Given the description of an element on the screen output the (x, y) to click on. 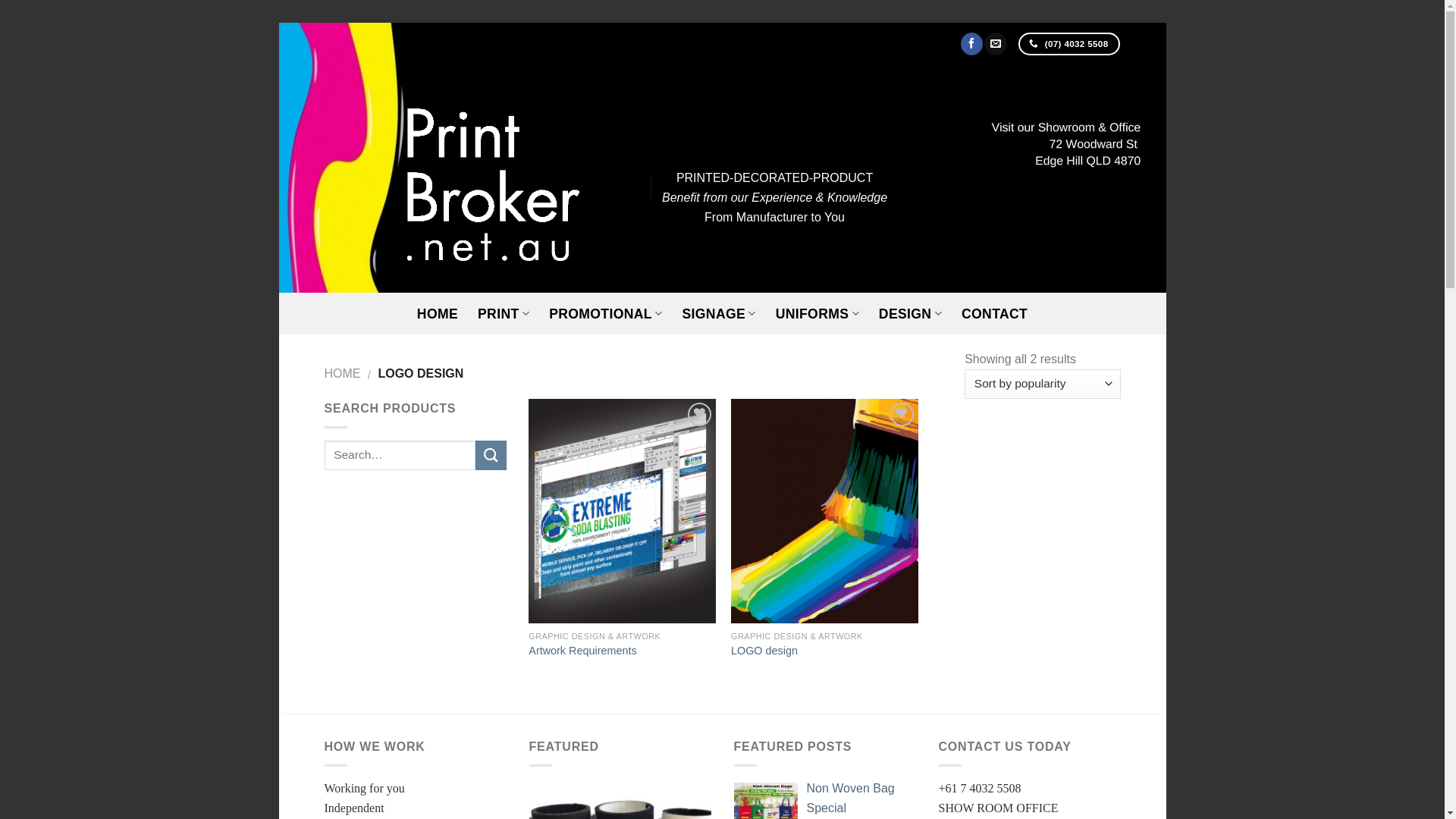
Send us an email Element type: hover (995, 43)
DESIGN Element type: text (909, 313)
UNIFORMS Element type: text (817, 313)
Artwork Requirements Element type: text (582, 650)
SIGNAGE Element type: text (719, 313)
CONTACT Element type: text (994, 313)
HOME Element type: text (342, 373)
PROMOTIONAL Element type: text (605, 313)
HOME Element type: text (437, 313)
LOGO design Element type: text (764, 650)
Non Woven Bag Special Element type: text (850, 797)
Follow on Facebook Element type: hover (971, 43)
Print Broker - Your Print Broker Network Element type: hover (475, 178)
Skip to content Element type: text (279, 22)
(07) 4032 5508 Element type: text (1069, 43)
PRINT Element type: text (503, 313)
